Given the description of an element on the screen output the (x, y) to click on. 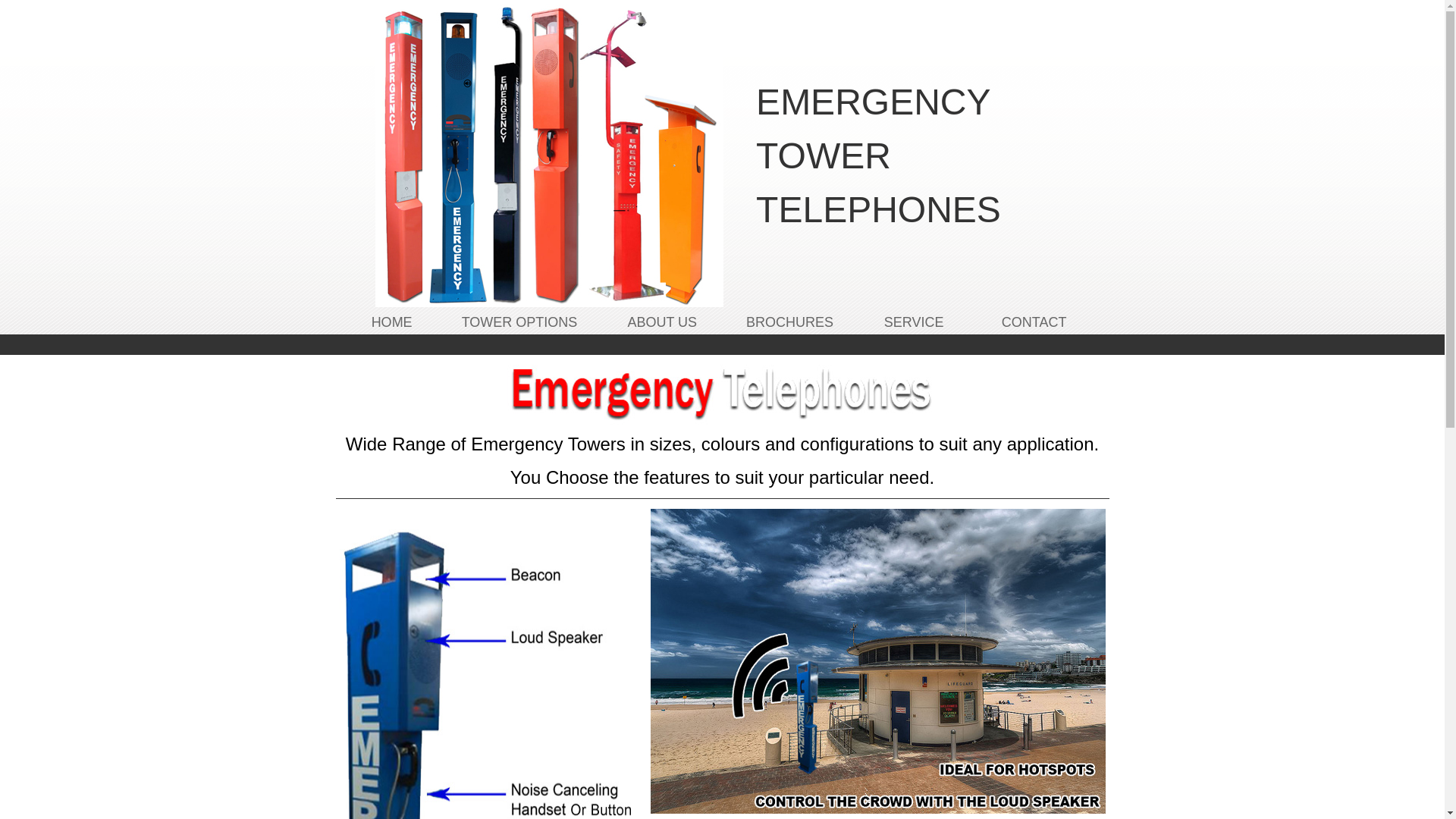
HOME Element type: text (391, 321)
TOWER OPTIONS Element type: text (519, 321)
SERVICE Element type: text (914, 321)
CONTACT Element type: text (1033, 321)
BROCHURES Element type: text (789, 321)
ABOUT US Element type: text (661, 321)
